Given the description of an element on the screen output the (x, y) to click on. 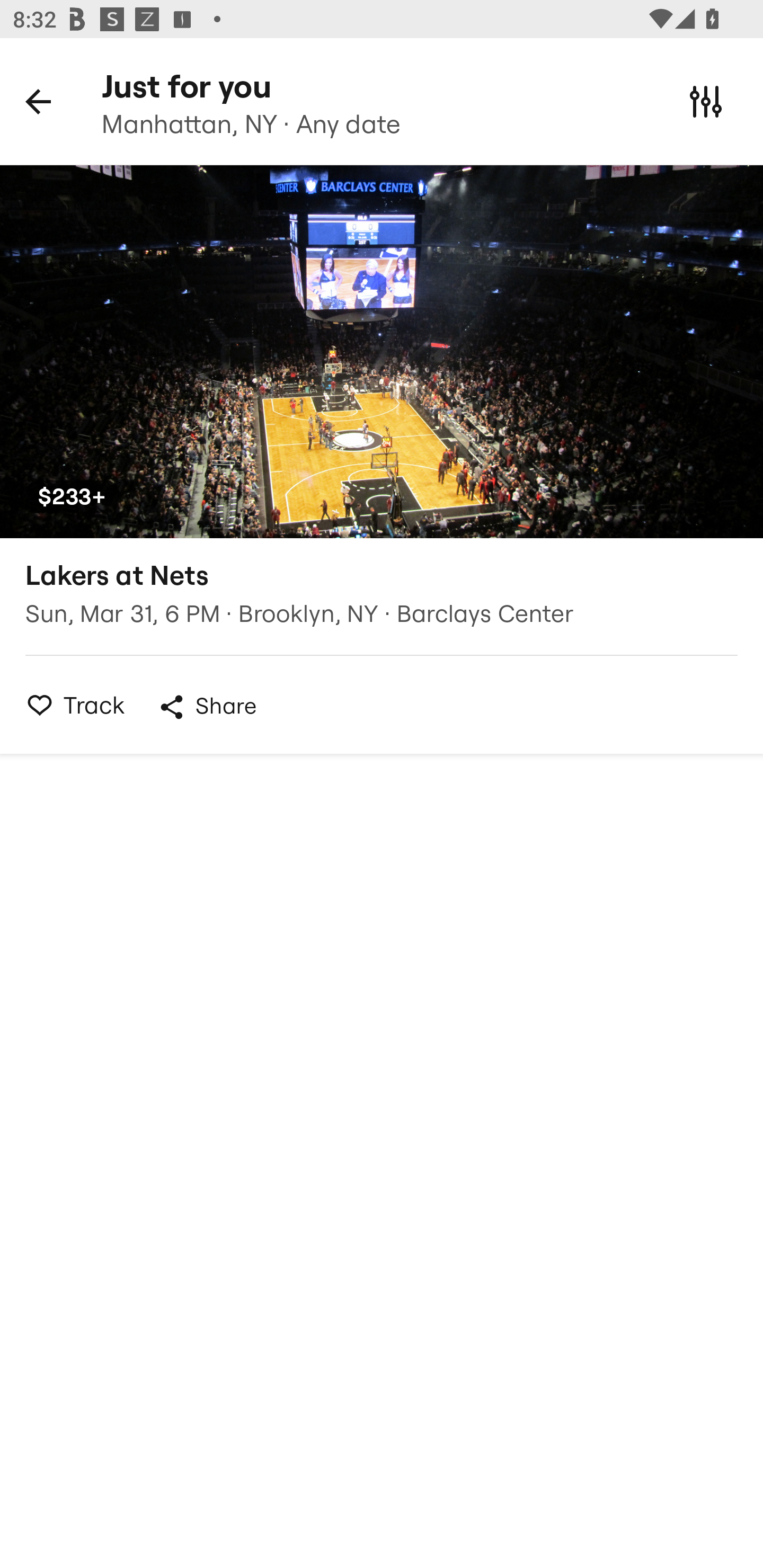
Back (38, 100)
Filters (705, 100)
Track (70, 704)
Share (207, 706)
